Given the description of an element on the screen output the (x, y) to click on. 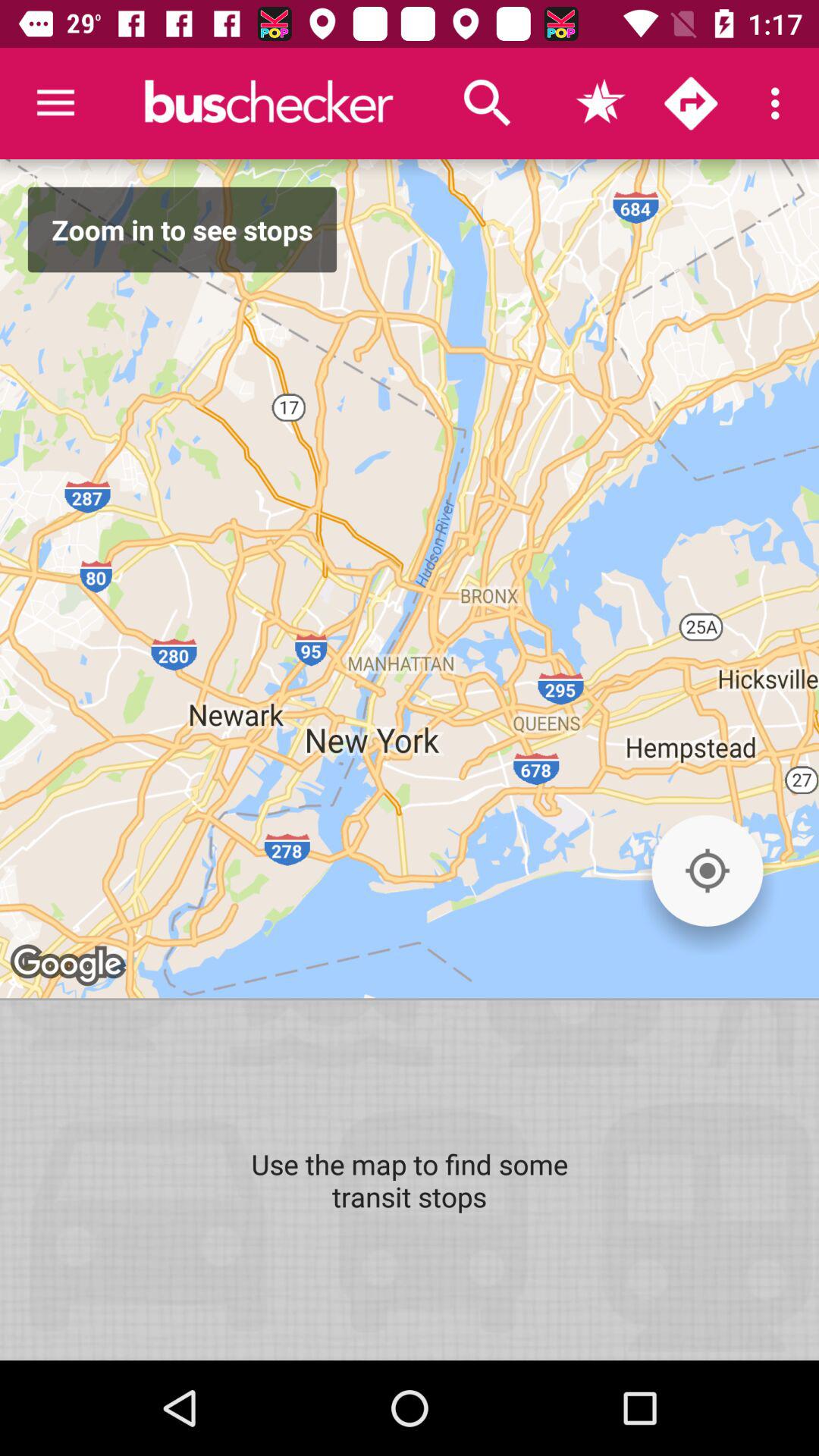
tap item at the top (487, 103)
